Given the description of an element on the screen output the (x, y) to click on. 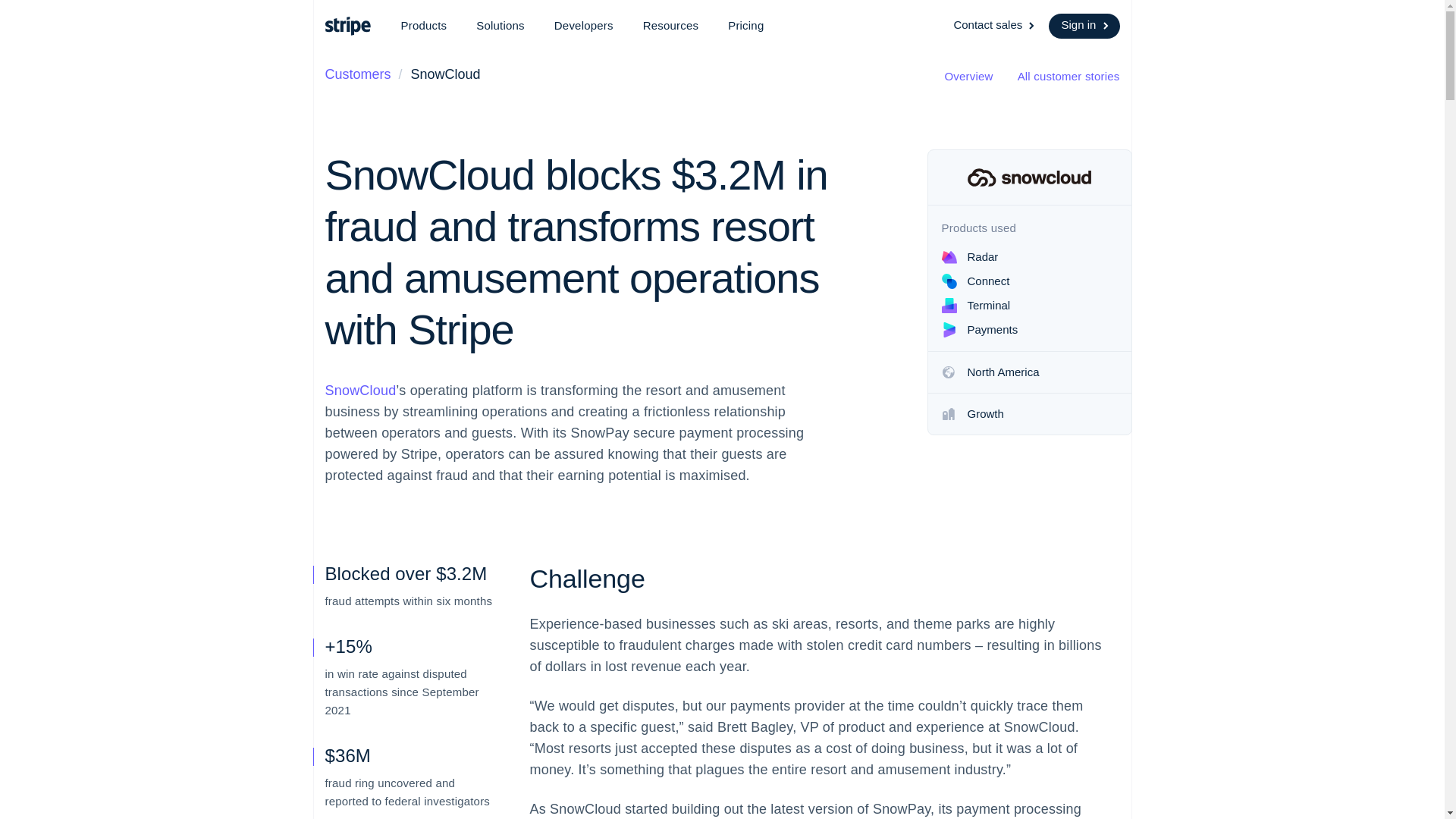
Contact sales  (994, 25)
Solutions (500, 25)
Resources (670, 25)
Sign in  (1083, 25)
Pricing (745, 25)
Developers (583, 25)
Products (423, 25)
